Given the description of an element on the screen output the (x, y) to click on. 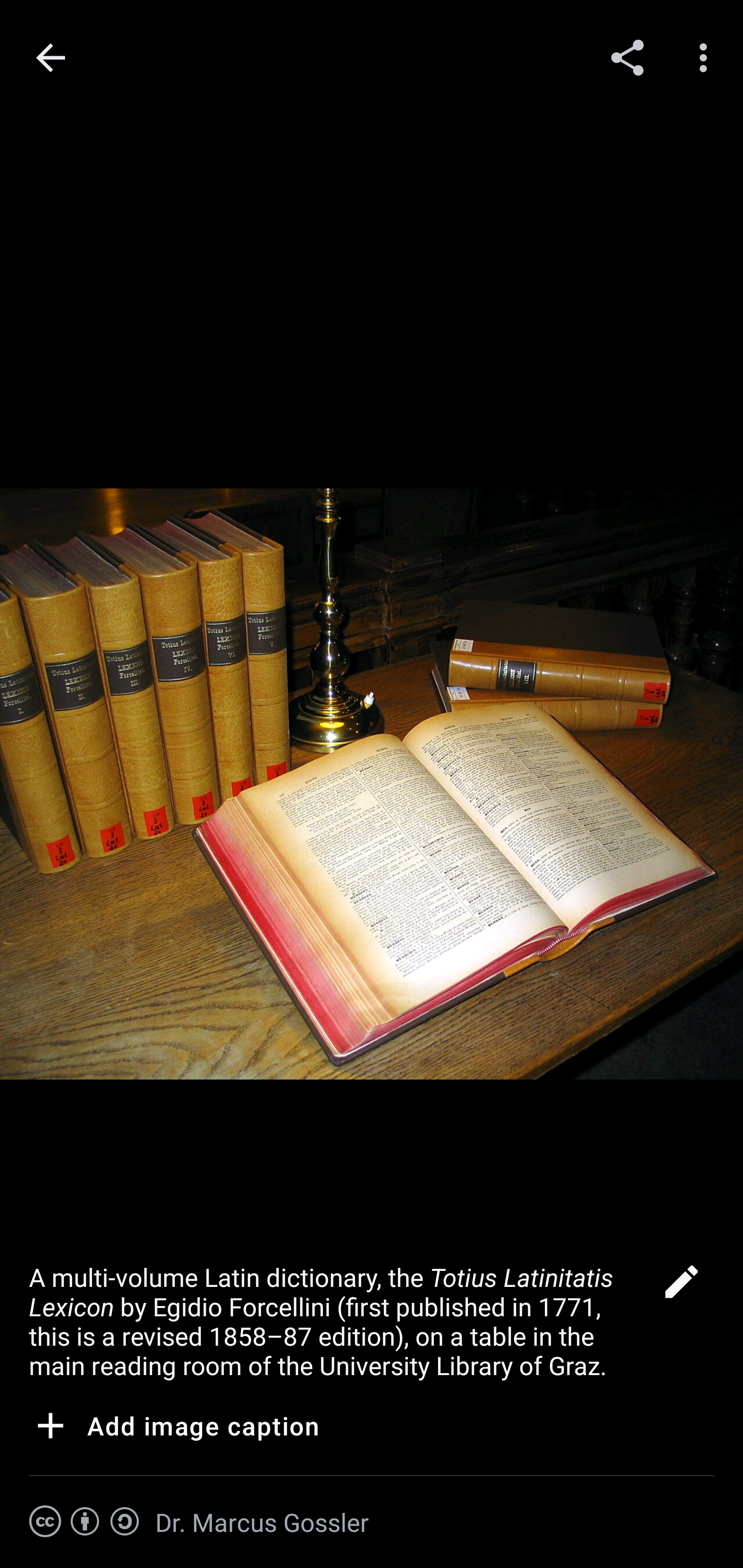
Navigate up (50, 57)
Share (626, 57)
More options (706, 57)
Edit image caption (681, 1286)
Add image caption (174, 1428)
CC BY-SA 3.0 (84, 1521)
